Given the description of an element on the screen output the (x, y) to click on. 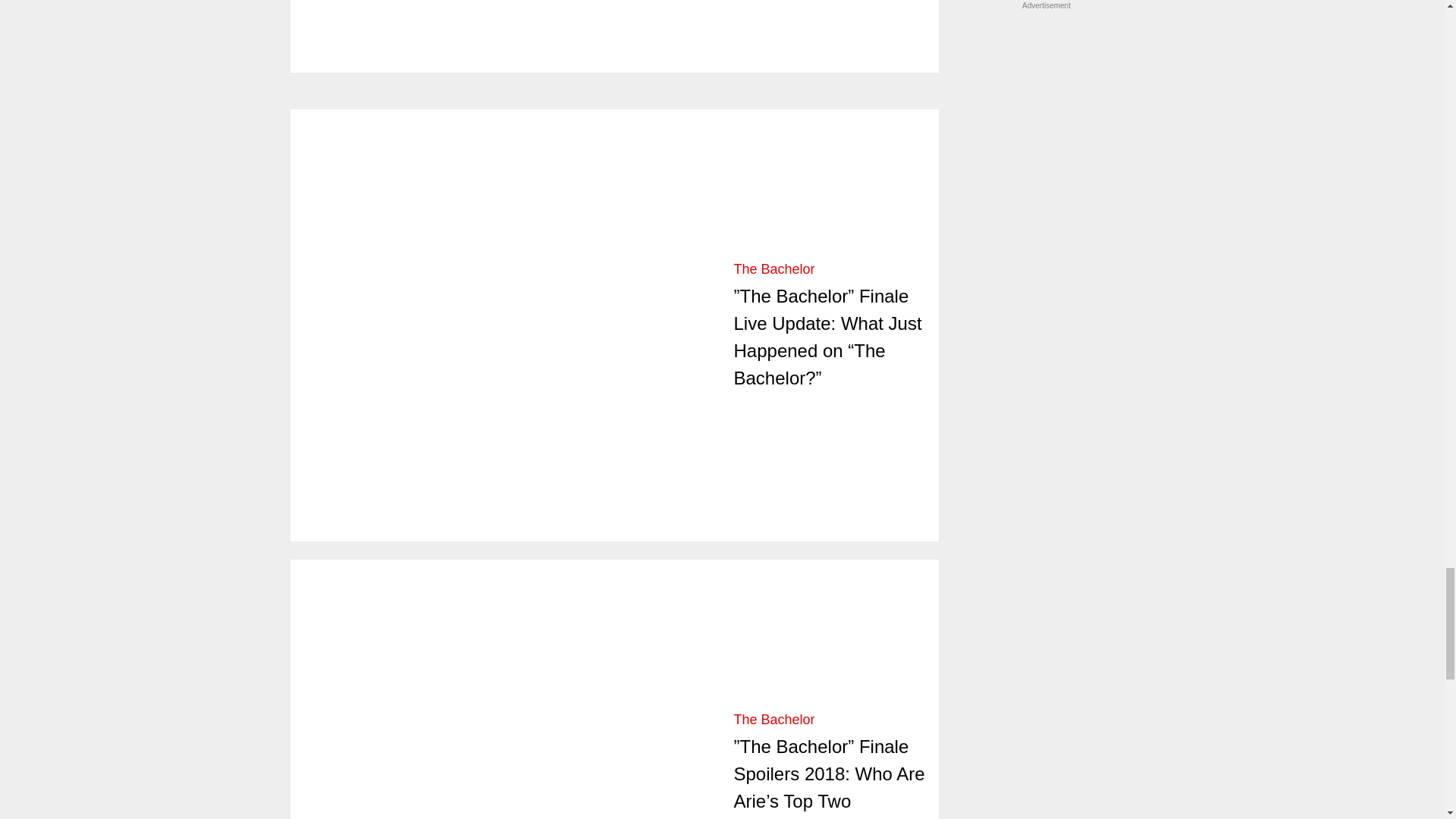
Category Name (774, 268)
Category Name (774, 719)
